Given the description of an element on the screen output the (x, y) to click on. 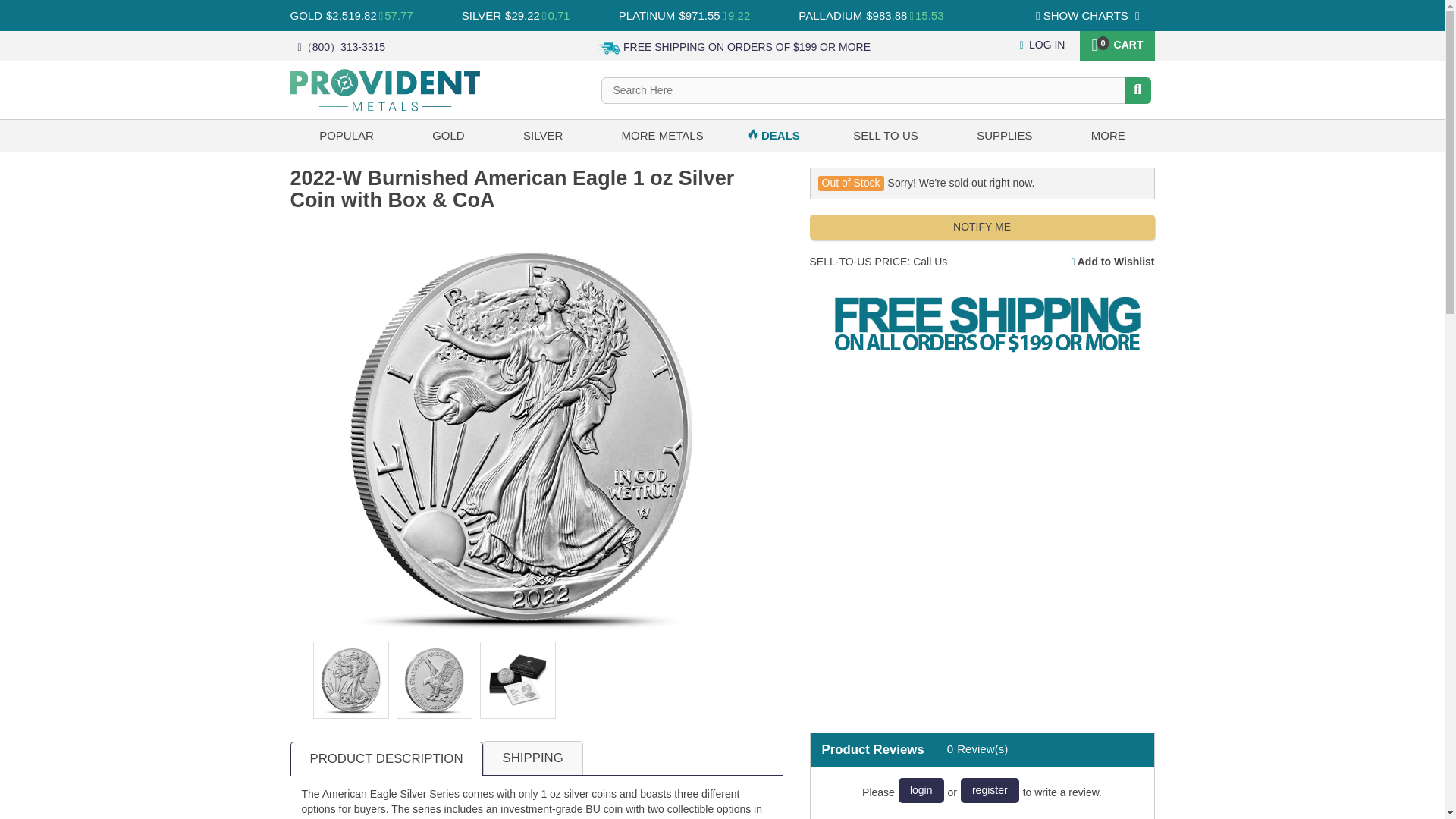
PALLADIUM (829, 15)
GOLD (305, 15)
0CART (1116, 43)
PLATINUM (646, 15)
POPULAR (346, 134)
SILVER (480, 15)
LOG IN (1043, 44)
